Given the description of an element on the screen output the (x, y) to click on. 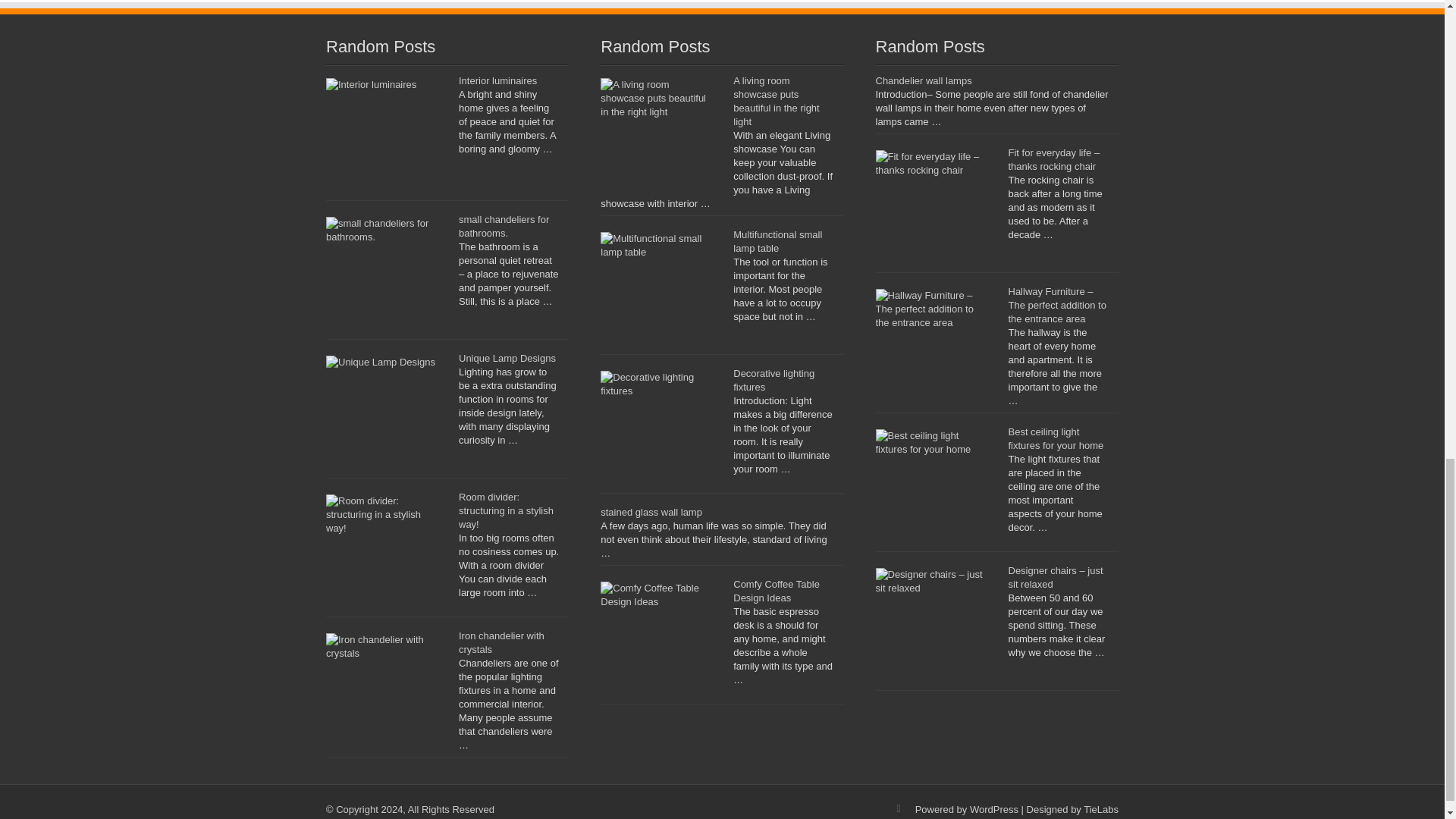
Room divider: structuring in a stylish way! (505, 510)
Decorative lighting fixtures (773, 380)
Multifunctional small lamp table (777, 241)
Interior luminaires (497, 80)
small chandeliers for bathrooms. (503, 226)
A living room showcase puts beautiful in the right light (775, 101)
Iron chandelier with crystals (501, 642)
Comfy Coffee Table Design Ideas (776, 590)
stained glass wall lamp (650, 511)
Chandelier wall lamps (923, 80)
Unique Lamp Designs (507, 357)
